Given the description of an element on the screen output the (x, y) to click on. 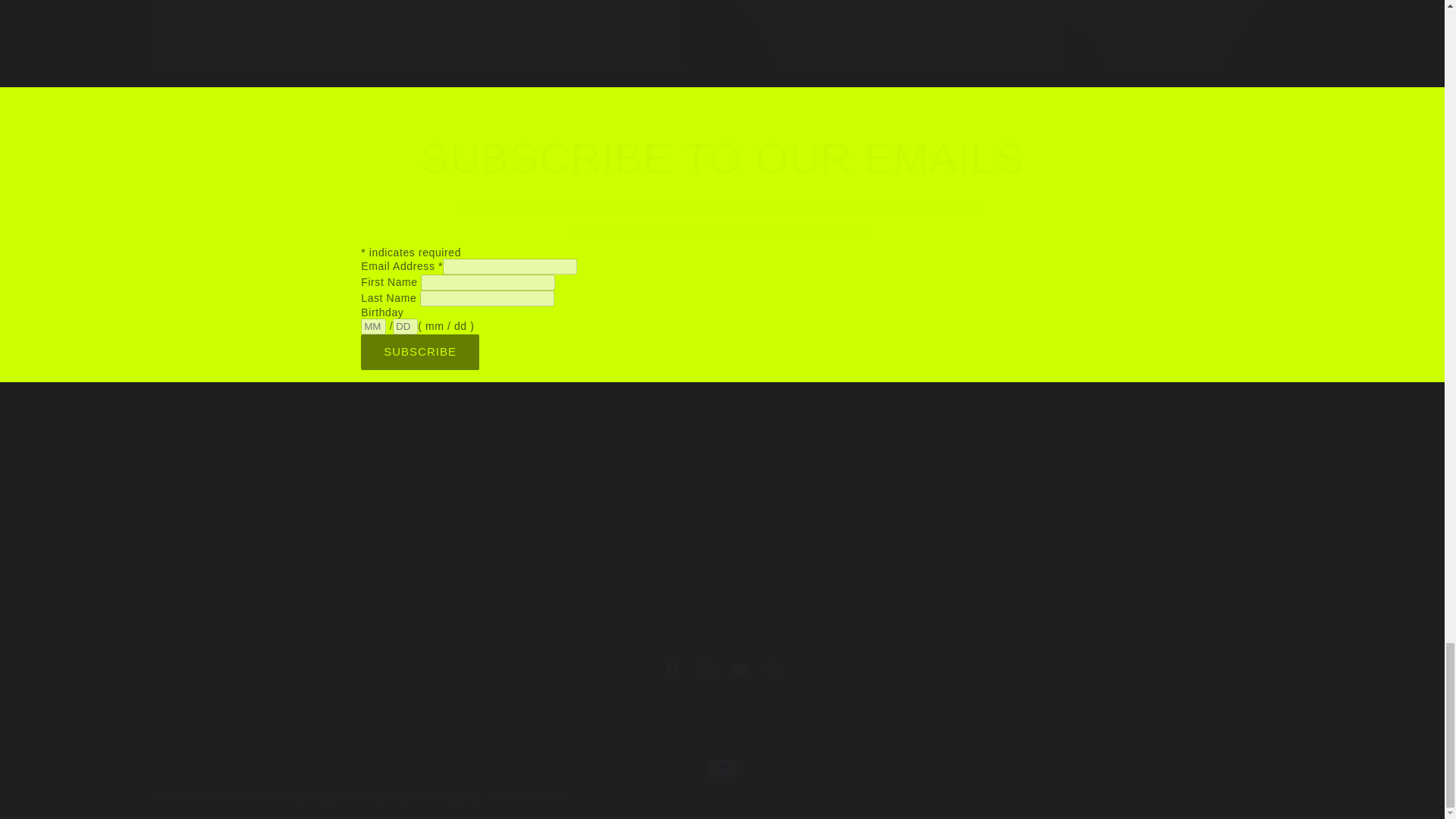
SUBSCRIBE (420, 352)
tel:01332 841950 (193, 530)
SUBSCRIBE TO OUR EMAILS (721, 158)
